Given the description of an element on the screen output the (x, y) to click on. 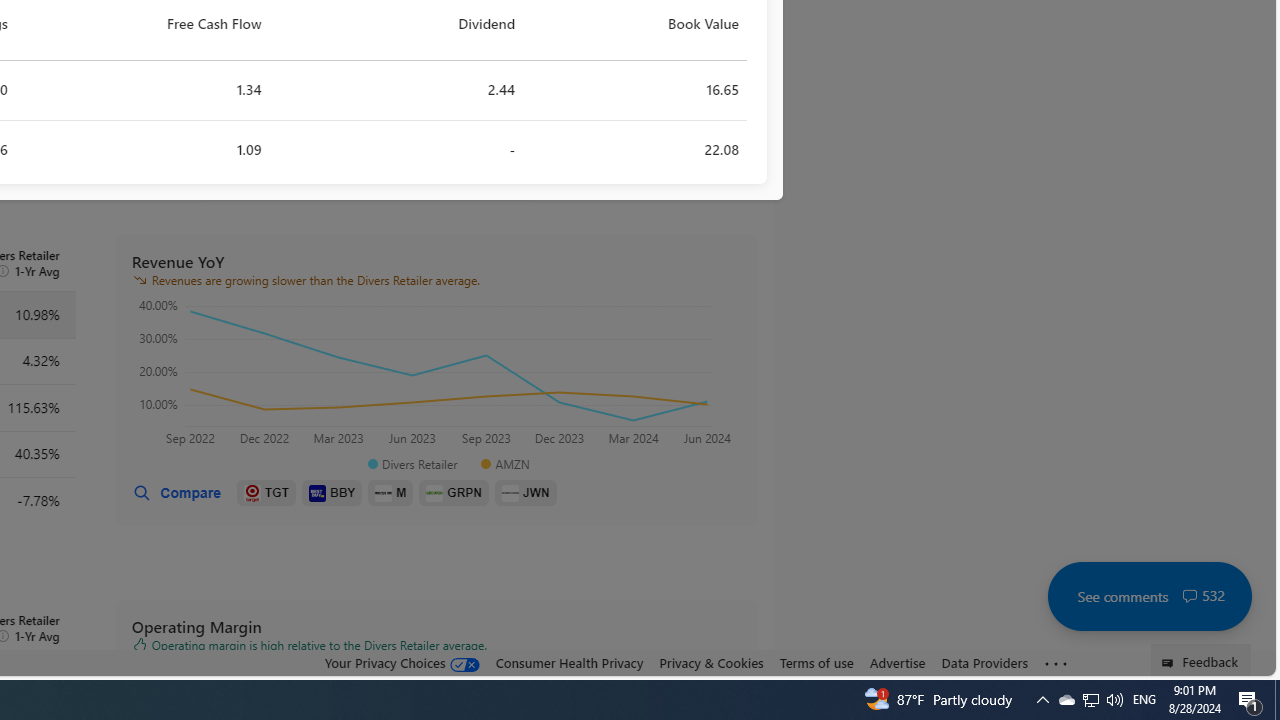
Data Providers (983, 662)
Class: cwt-icon-vector (1190, 596)
Consumer Health Privacy (569, 663)
Class: oneFooter_seeMore-DS-EntryPoint1-1 (1055, 663)
Data Providers (983, 663)
GRPN (454, 493)
Advertise (897, 663)
Class: react-financial-charts (436, 375)
Advertise (897, 662)
Your Privacy Choices (401, 663)
Consumer Health Privacy (569, 662)
Privacy & Cookies (711, 663)
Compare (175, 493)
BBY (332, 493)
